Given the description of an element on the screen output the (x, y) to click on. 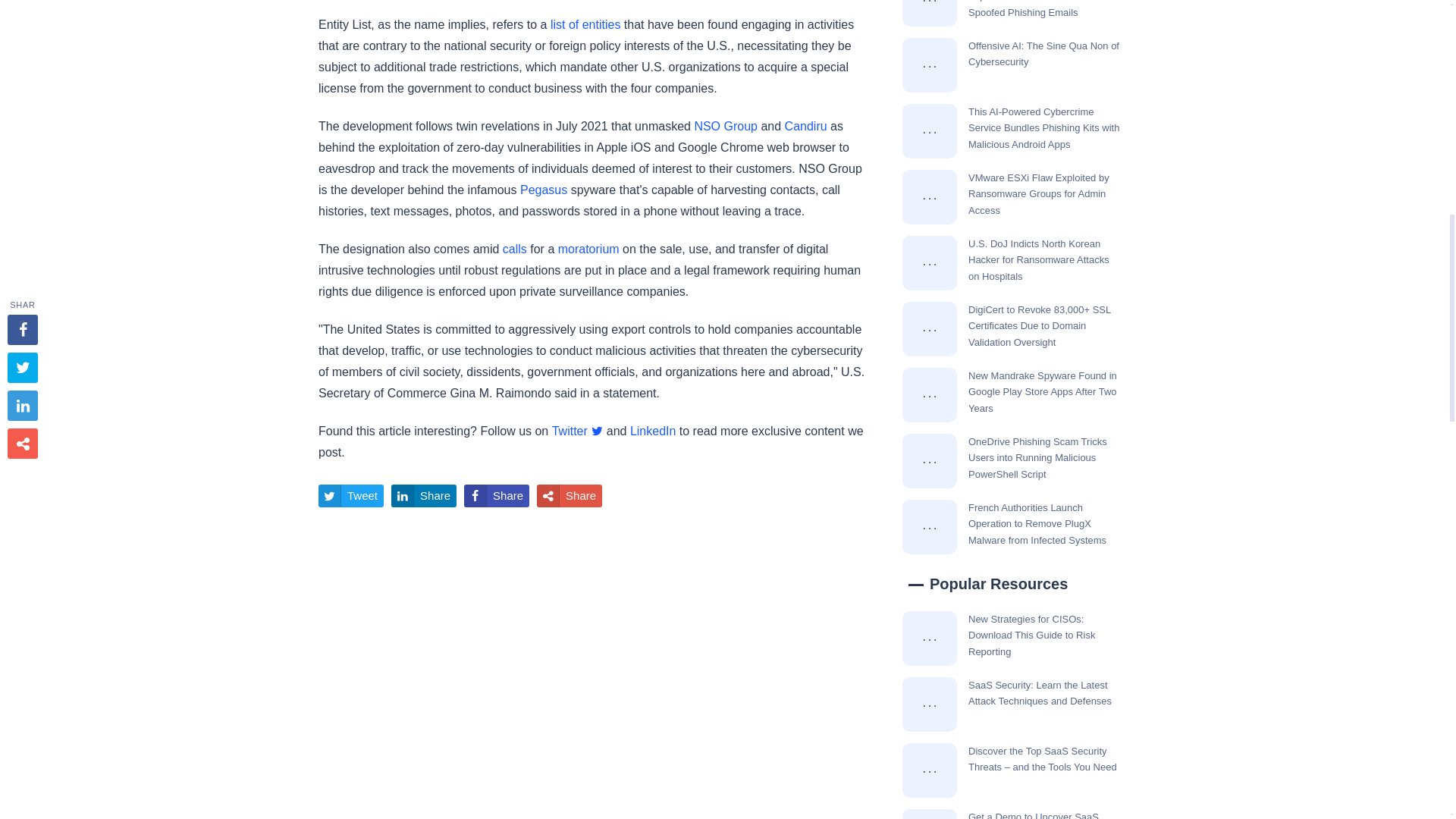
Offensive AI: The Sine Qua Non of Cybersecurity (929, 64)
list of entities (585, 24)
